Given the description of an element on the screen output the (x, y) to click on. 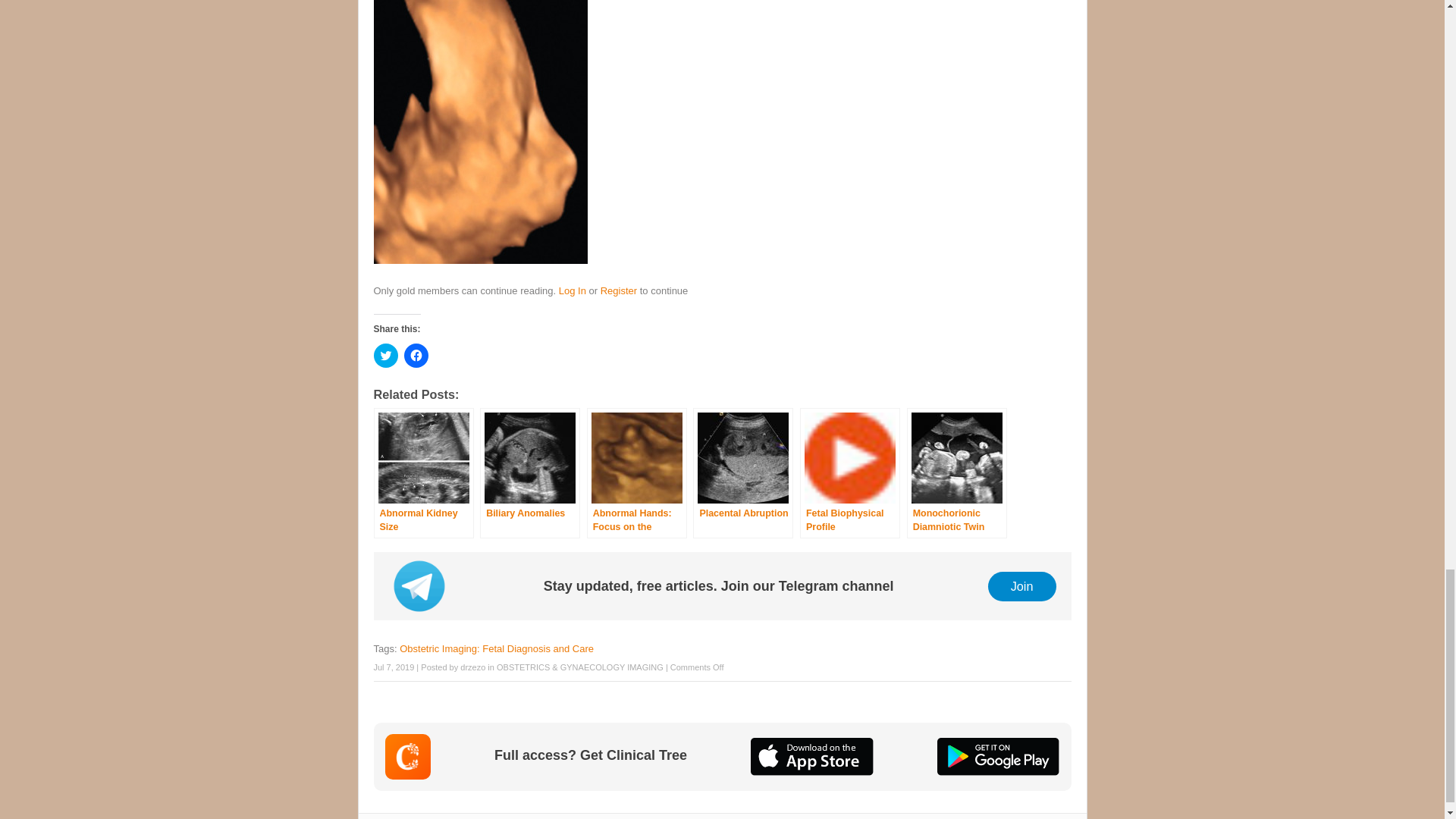
Posts by drzezo (472, 666)
Click to share on Twitter (384, 355)
Click to share on Facebook (415, 355)
